Given the description of an element on the screen output the (x, y) to click on. 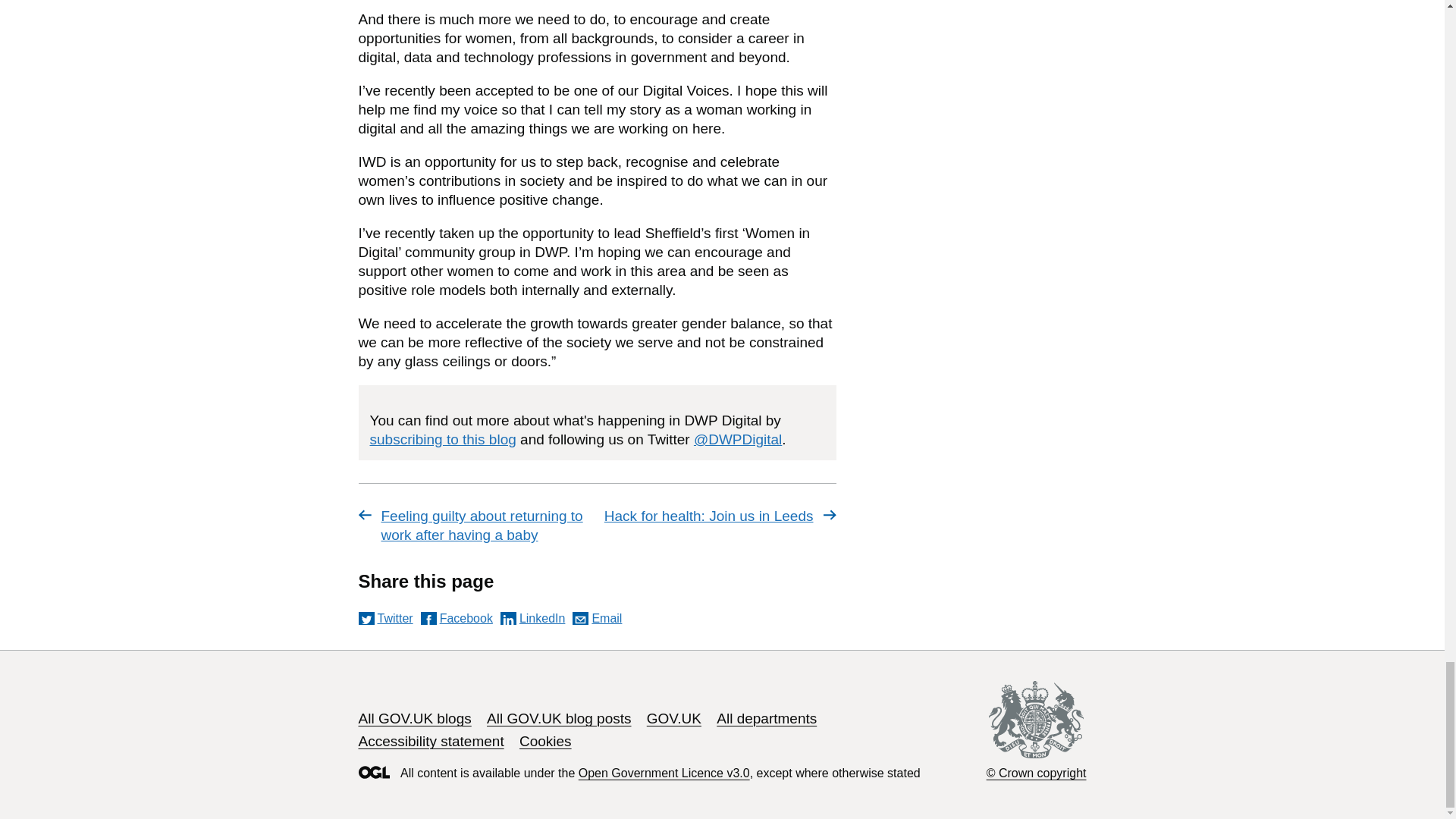
Accessibility statement (430, 741)
Email (596, 617)
All GOV.UK blog posts (558, 718)
subscribing to this blog (442, 439)
Cookies (545, 741)
Twitter (385, 617)
Feeling guilty about returning to work after having a baby (475, 525)
All departments (766, 718)
LinkedIn (533, 617)
All GOV.UK blogs (414, 718)
GOV.UK (673, 718)
Facebook (456, 617)
Hack for health: Join us in Leeds (718, 515)
